Given the description of an element on the screen output the (x, y) to click on. 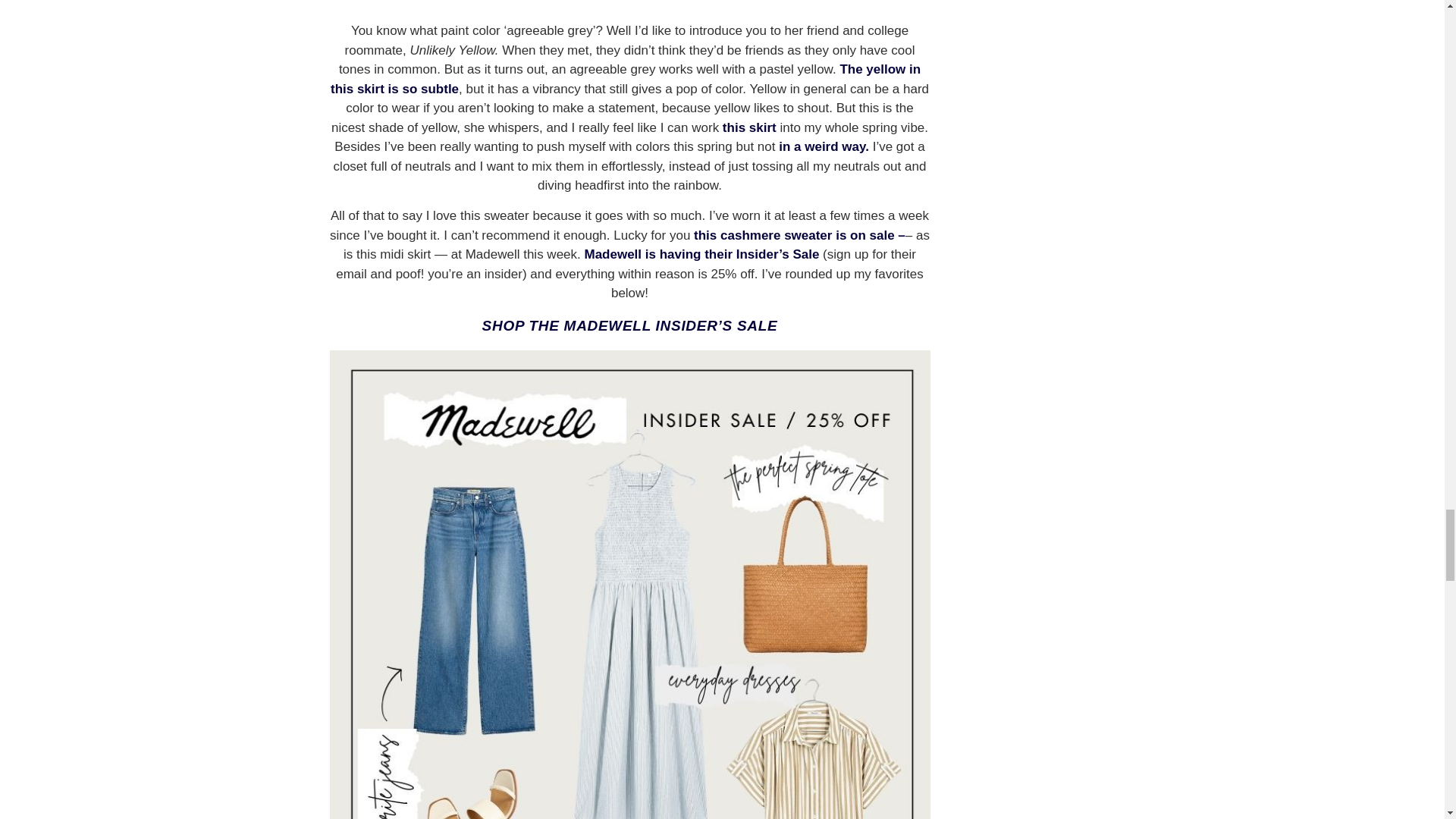
The yellow in this skirt is so subtle (625, 79)
this skirt (749, 127)
in a weird way. (823, 146)
